Given the description of an element on the screen output the (x, y) to click on. 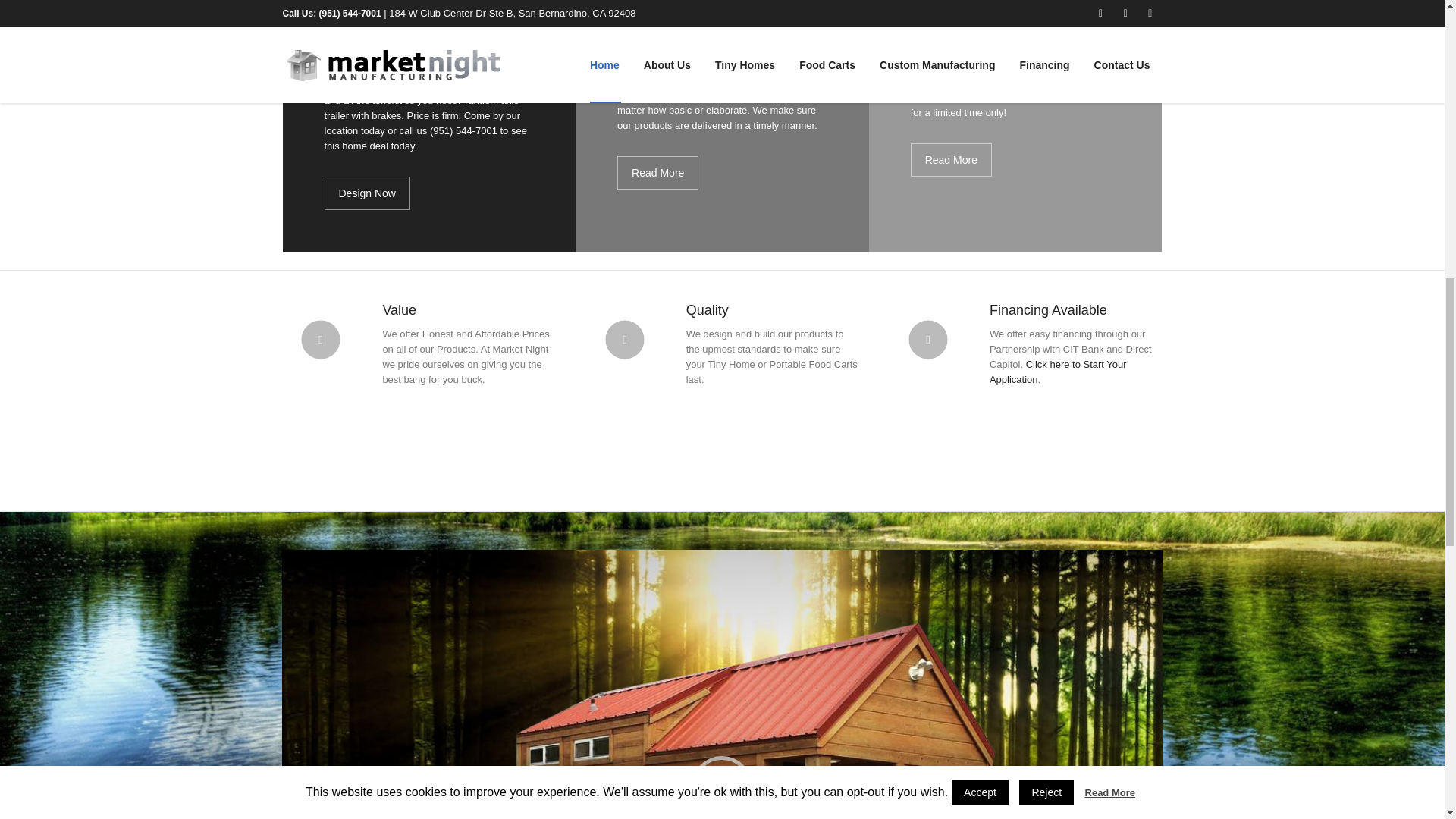
Design Now (367, 192)
Click here to Start Your Application (1058, 371)
Read More (951, 159)
Read More (657, 172)
